Given the description of an element on the screen output the (x, y) to click on. 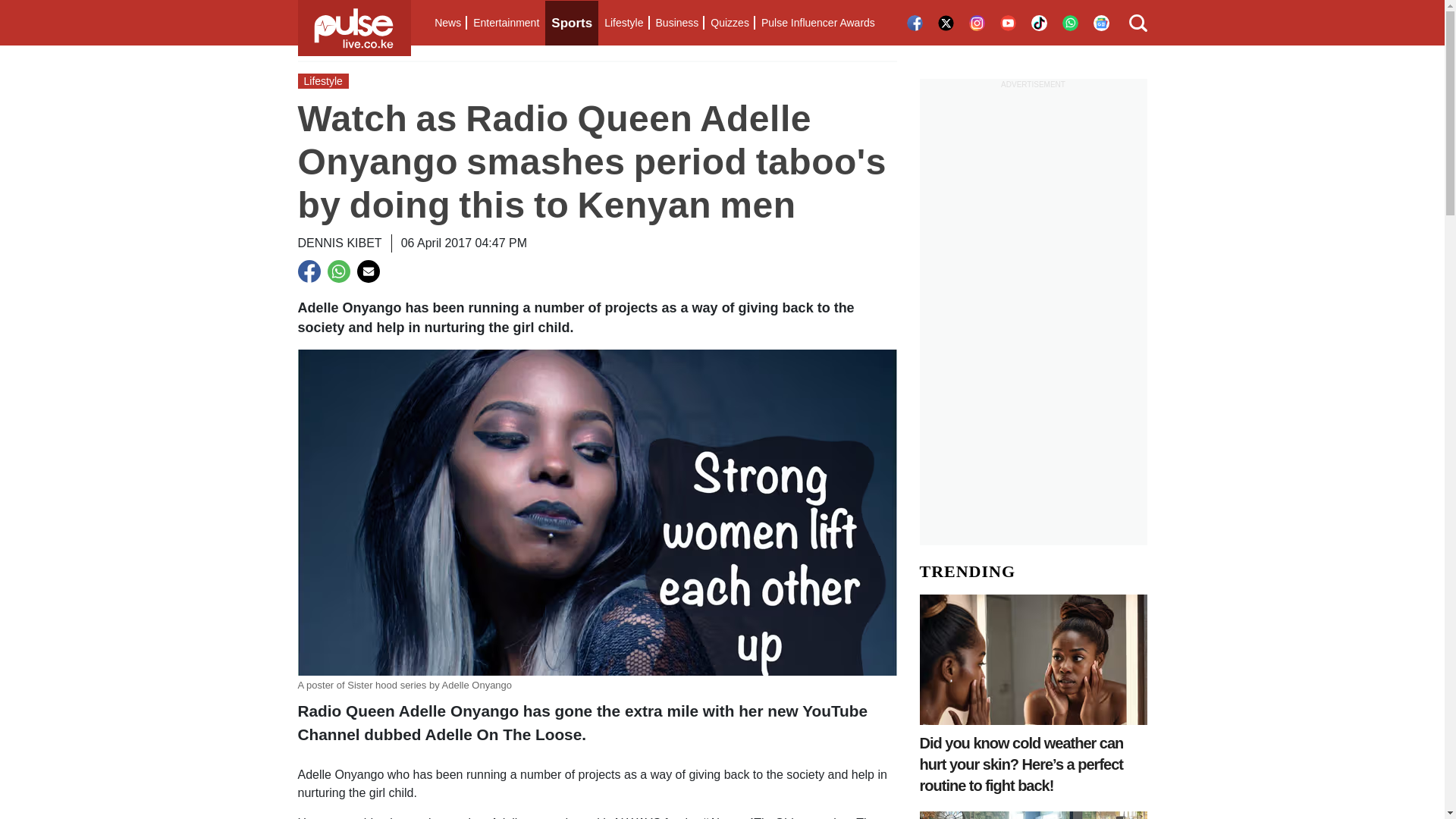
Pulse Influencer Awards (817, 22)
Sports (571, 22)
Lifestyle (623, 22)
Quizzes (729, 22)
Business (676, 22)
Entertainment (505, 22)
